Given the description of an element on the screen output the (x, y) to click on. 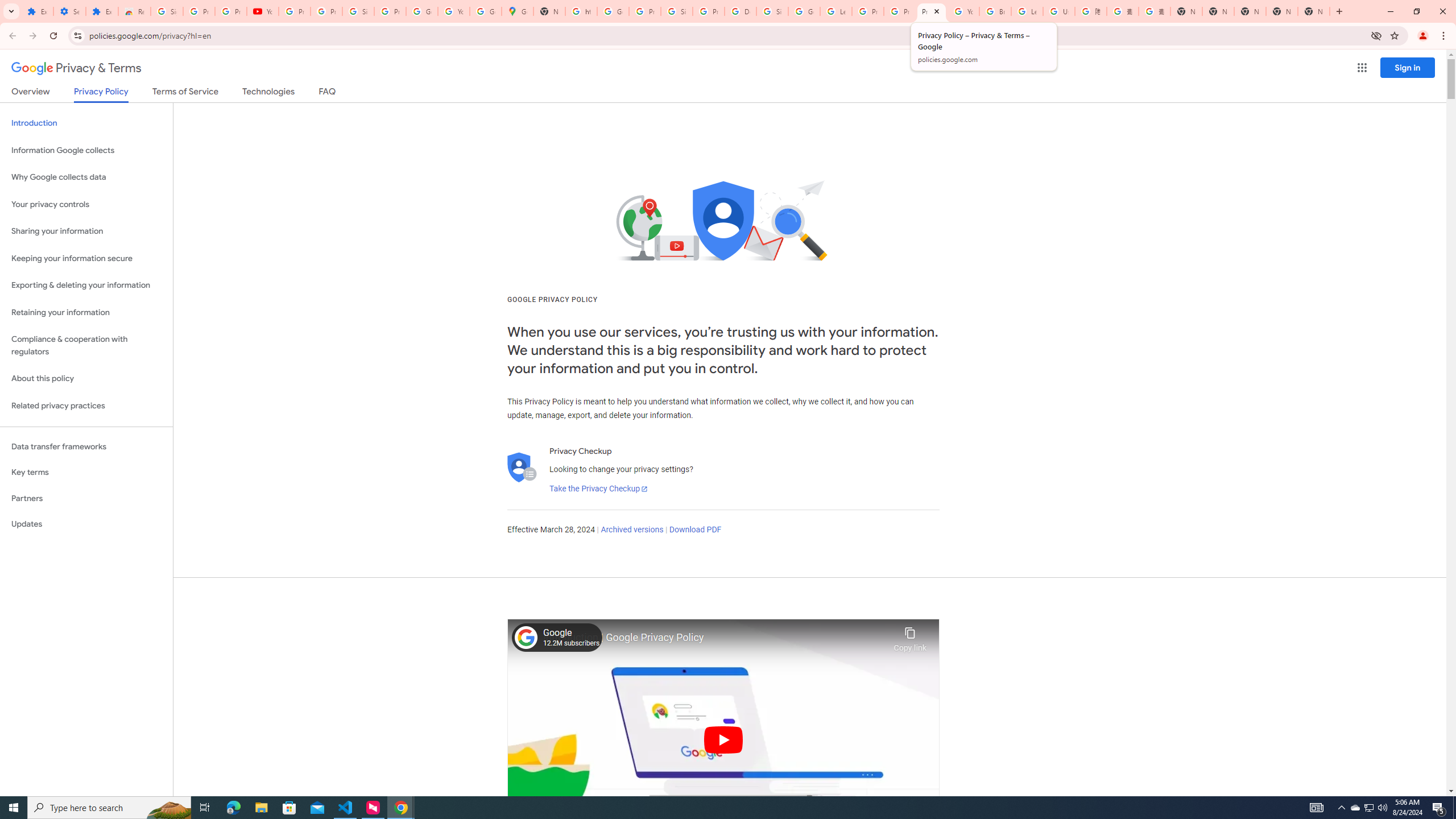
Data transfer frameworks (86, 446)
Keeping your information secure (86, 258)
Third-party cookies blocked (1376, 35)
Photo image of Google (526, 636)
New Tab (1185, 11)
https://scholar.google.com/ (581, 11)
Retaining your information (86, 312)
Sign in - Google Accounts (772, 11)
Privacy Help Center - Policies Help (899, 11)
Updates (86, 524)
